Given the description of an element on the screen output the (x, y) to click on. 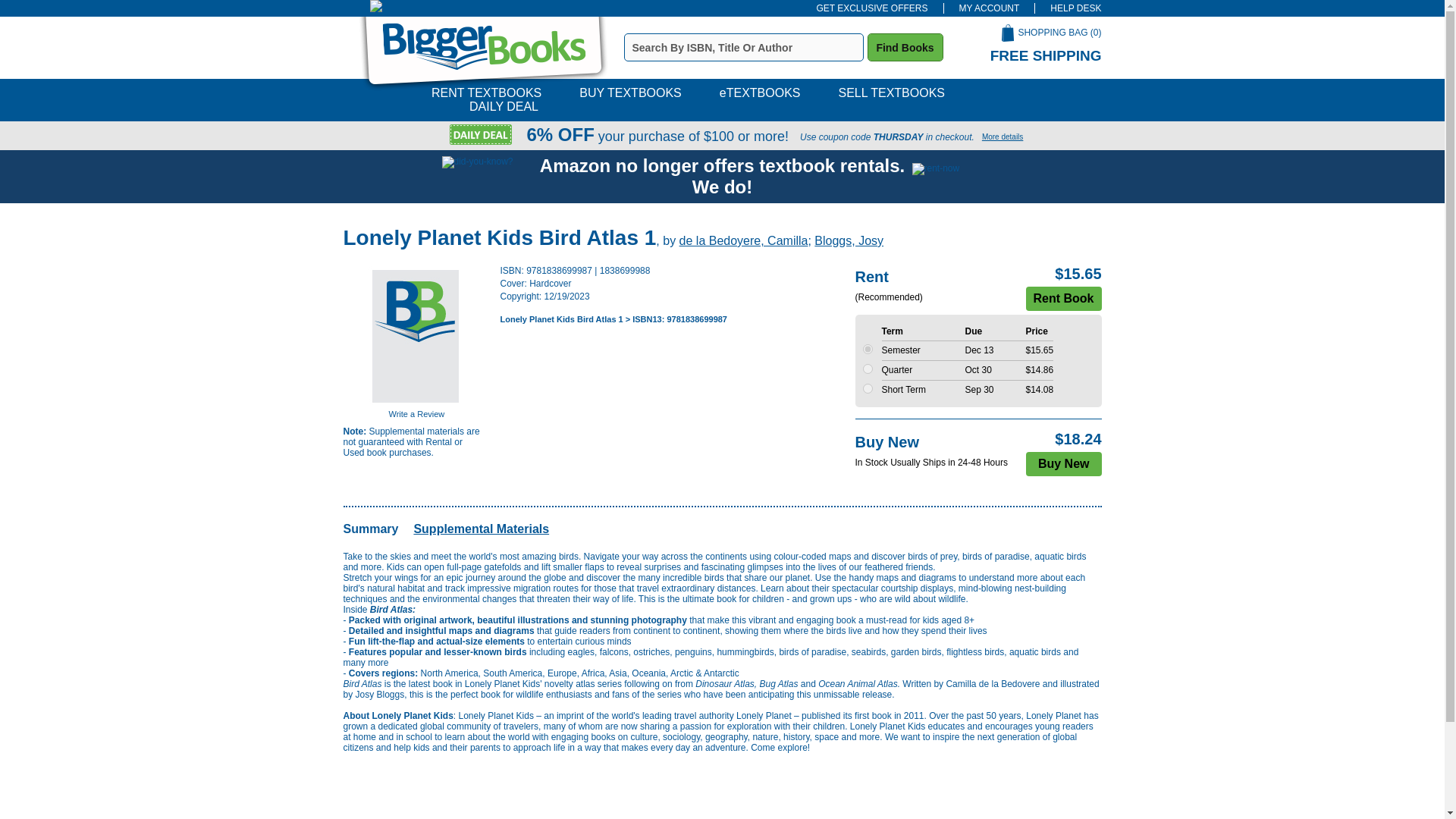
Bloggs, Josy (848, 240)
BUY TEXTBOOKS (630, 92)
MY ACCOUNT (989, 8)
SELL TEXTBOOKS (891, 92)
Rent Book (1062, 298)
Search by ISBN, Title or Author (743, 47)
Buy New (1064, 463)
de la Bedoyere, Camilla (743, 240)
Find Books (905, 47)
Write a Review (416, 413)
Rent Book (1062, 298)
DAILY DEAL (503, 106)
rt60days (867, 388)
Supplemental Materials (480, 528)
